Given the description of an element on the screen output the (x, y) to click on. 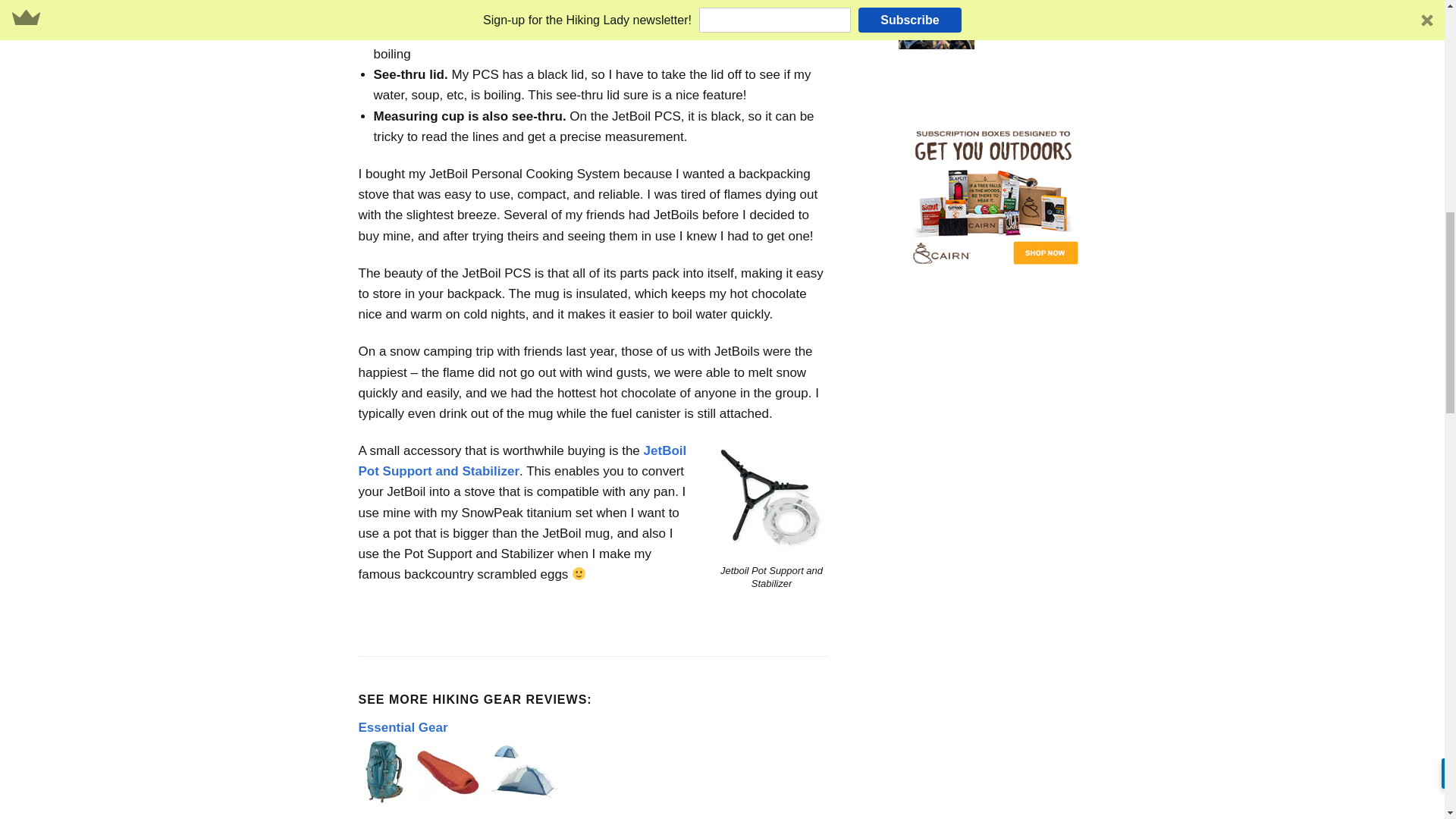
Essential Gear (460, 801)
Jetboil Pot Support and Stabilizer (771, 499)
Essential Gear (402, 727)
JetBoil Flash Cooking System (737, 8)
Essential Gear (460, 771)
